Given the description of an element on the screen output the (x, y) to click on. 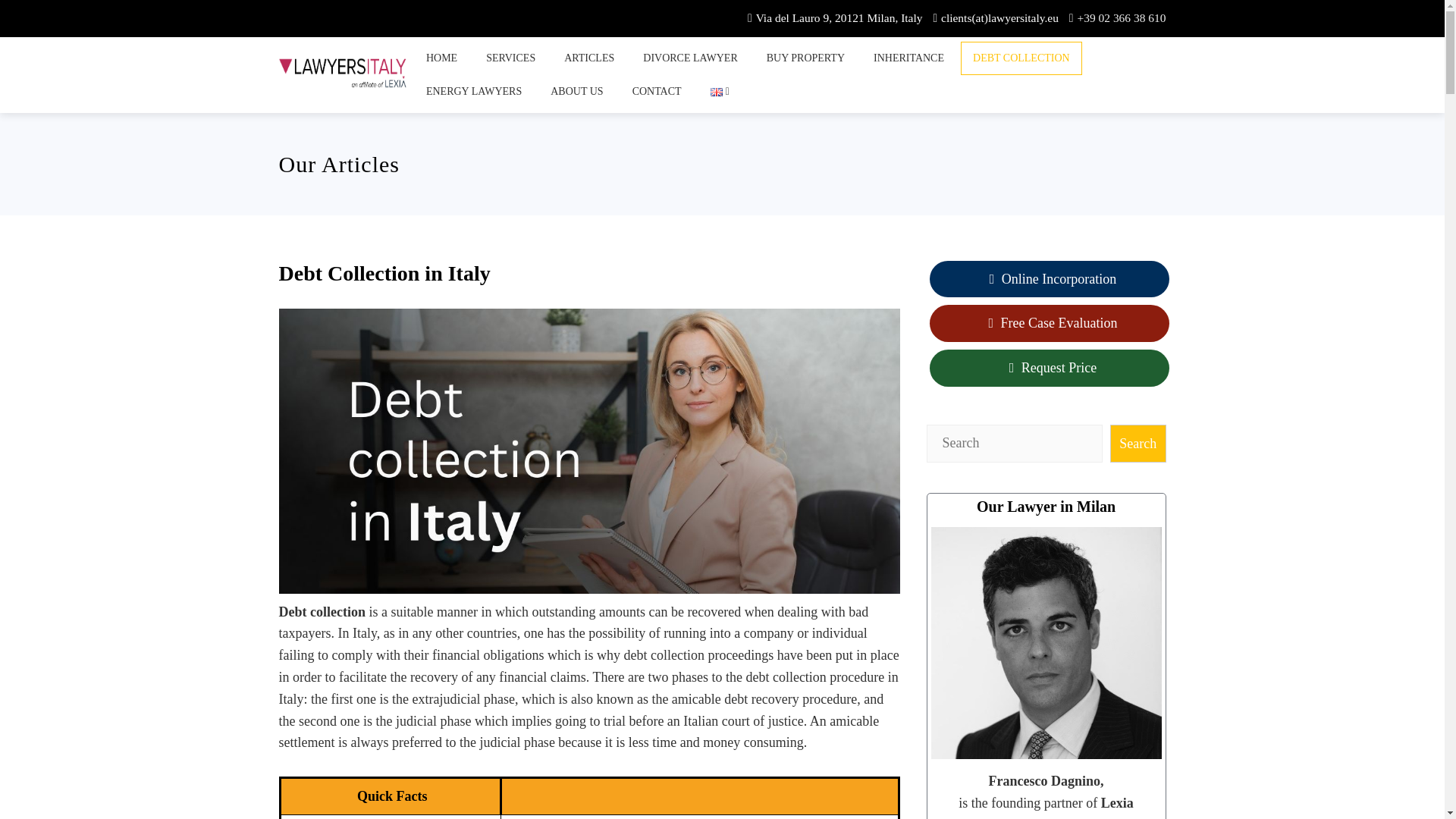
ABOUT US (576, 91)
CONTACT (657, 91)
INHERITANCE (908, 58)
DIVORCE LAWYER (689, 58)
HOME (440, 58)
SERVICES (510, 58)
BUY PROPERTY (805, 58)
DEBT COLLECTION (1020, 58)
ENERGY LAWYERS (473, 91)
ARTICLES (588, 58)
